Given the description of an element on the screen output the (x, y) to click on. 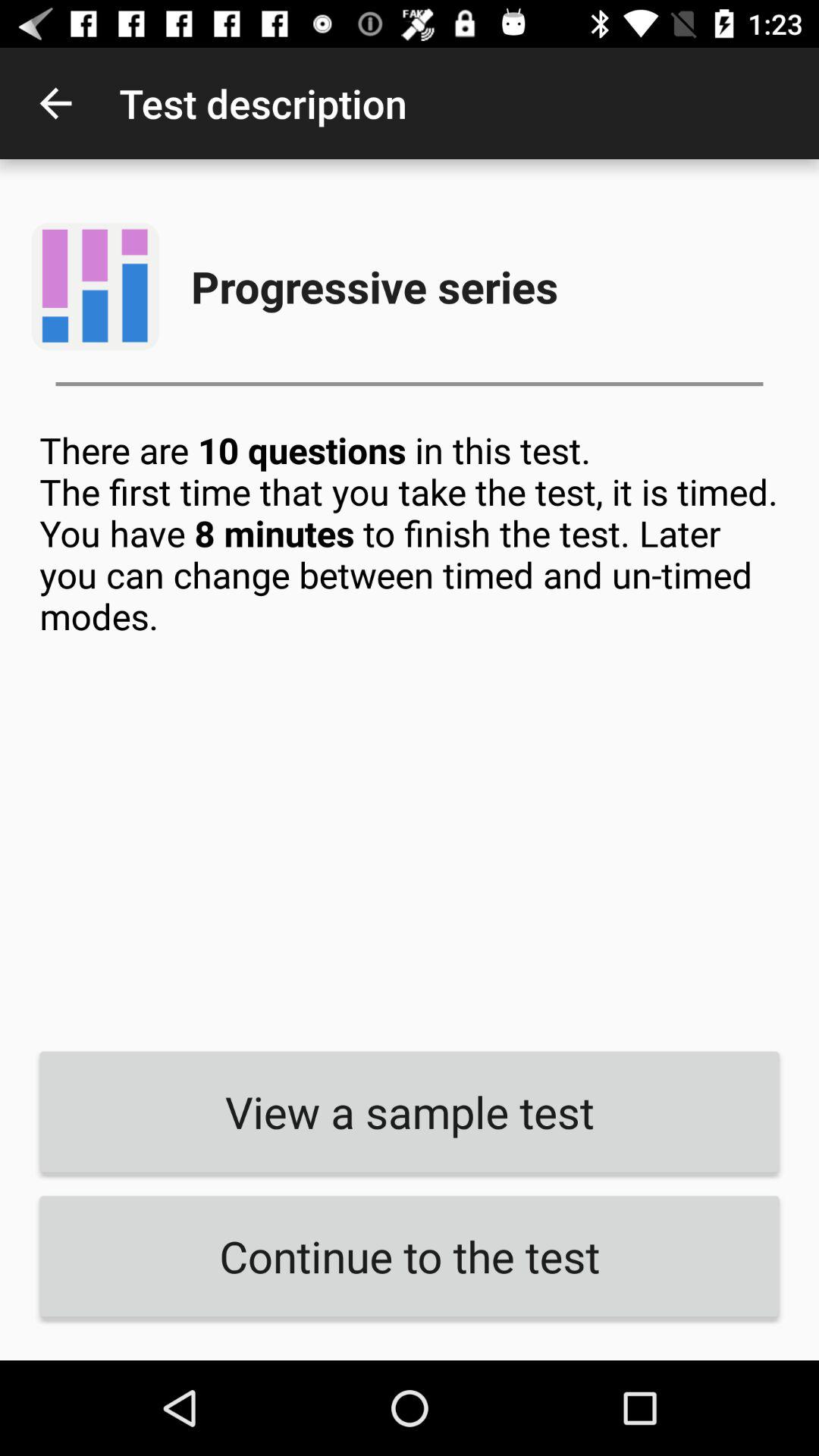
swipe to the view a sample (409, 1111)
